Given the description of an element on the screen output the (x, y) to click on. 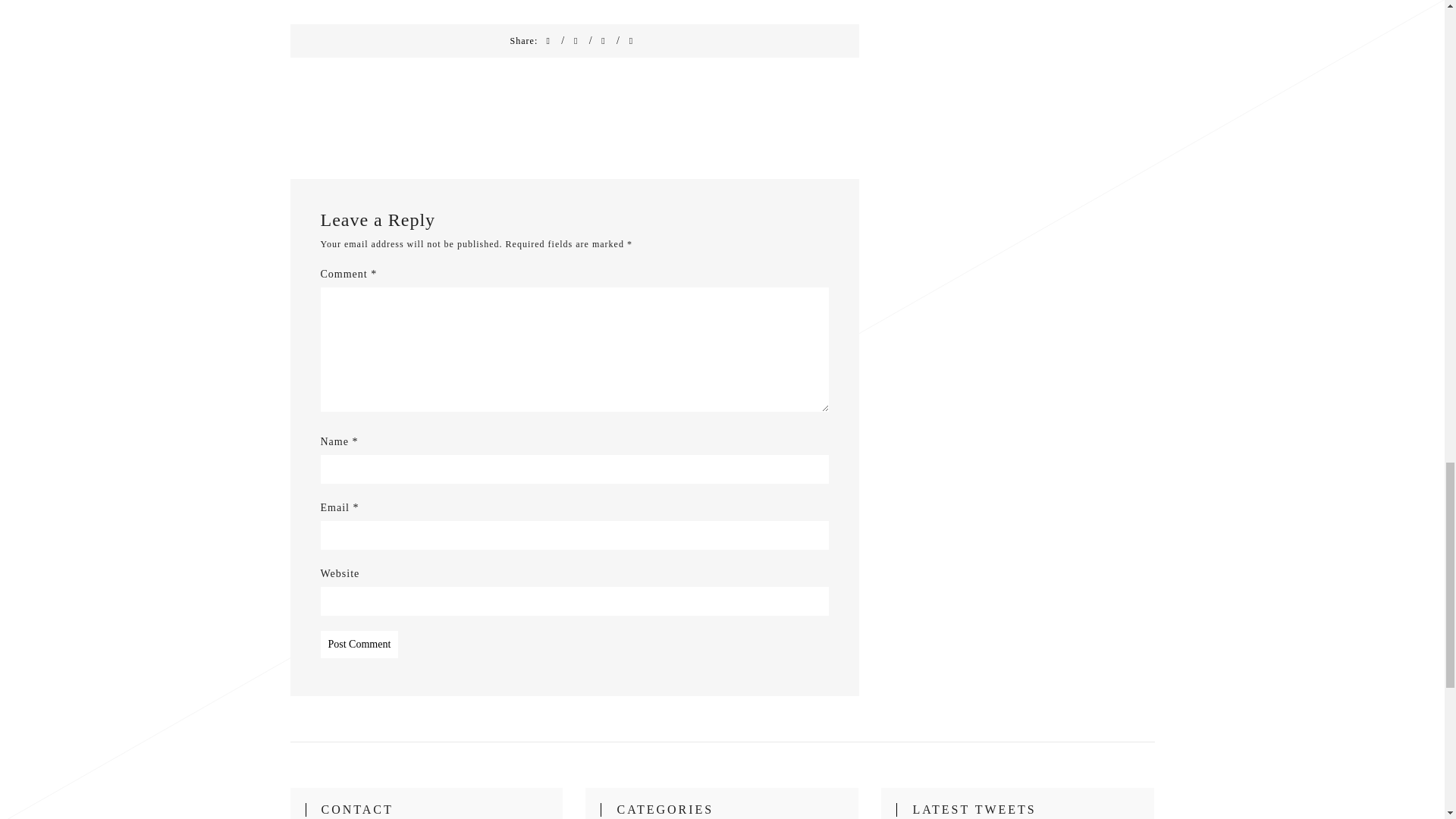
Post Comment (358, 644)
workshop (522, 0)
My Events (424, 0)
Codex (484, 0)
Inspiration (371, 0)
Post Comment (358, 644)
